Given the description of an element on the screen output the (x, y) to click on. 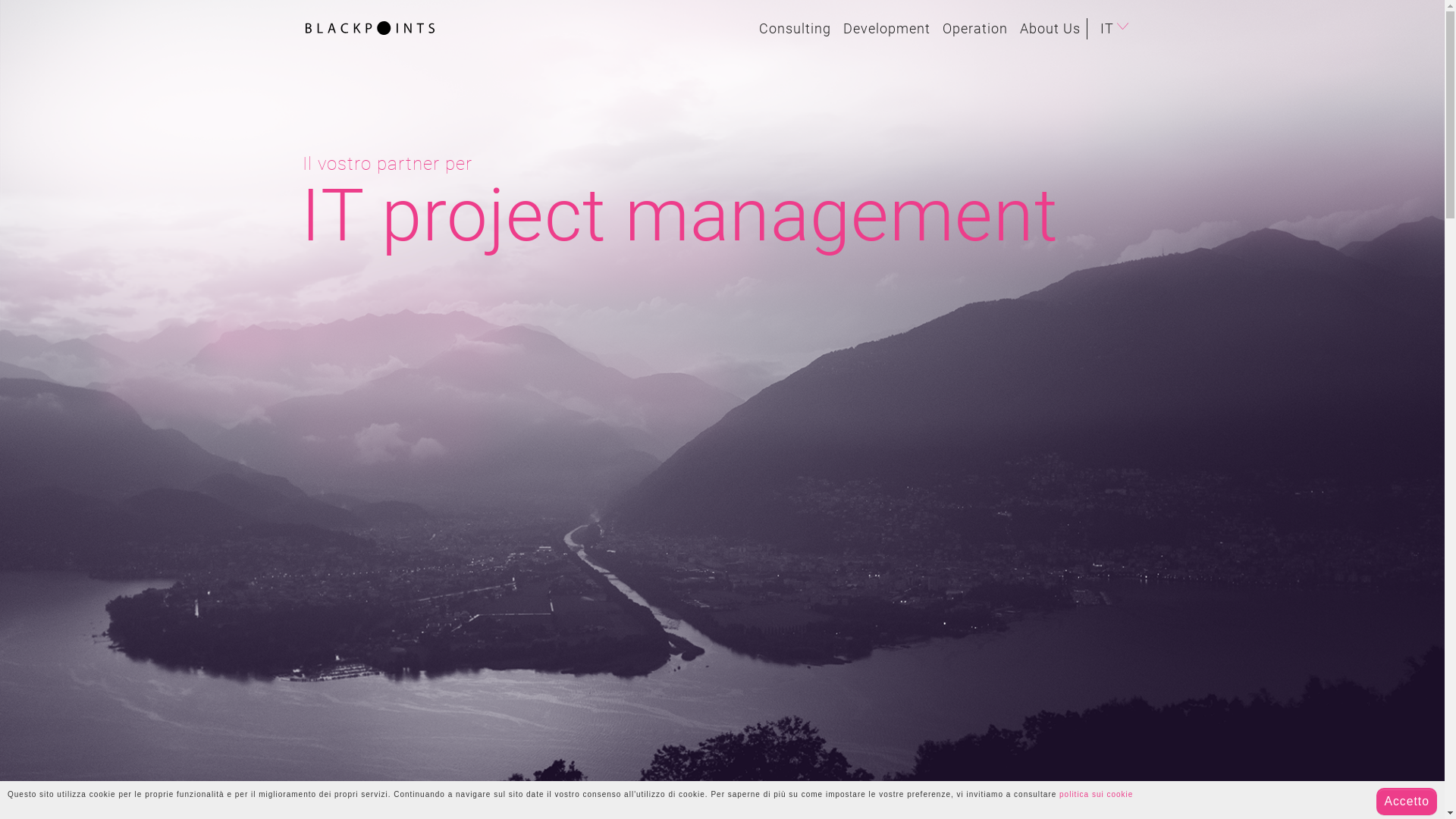
Operation Element type: text (974, 28)
IT Element type: text (1116, 28)
Accetto Element type: text (1406, 801)
Blackpoints SA Element type: hover (369, 25)
About Us Element type: text (1049, 28)
politica sui cookie Element type: text (1095, 794)
Development Element type: text (886, 28)
Consulting Element type: text (794, 28)
